Given the description of an element on the screen output the (x, y) to click on. 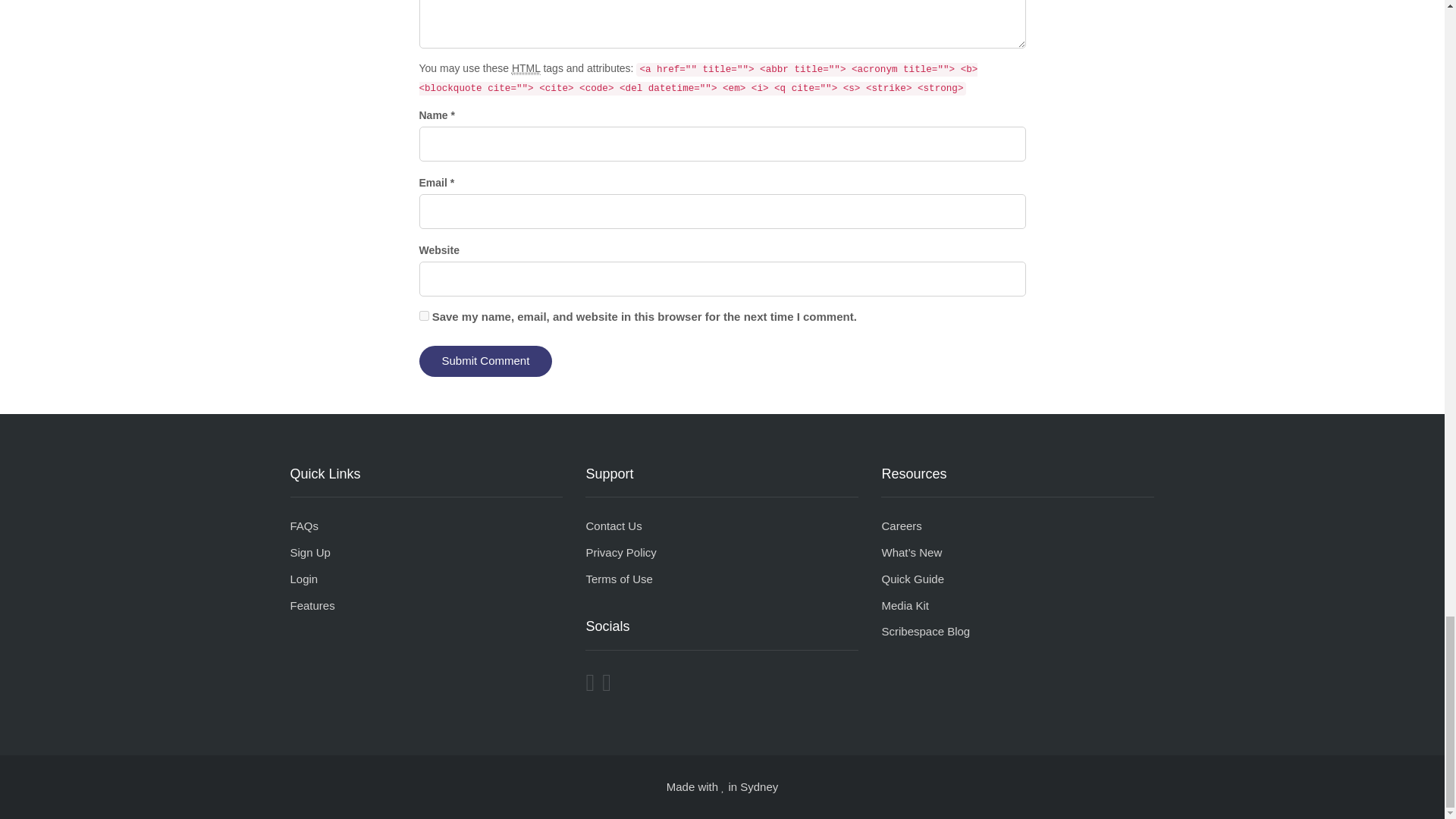
Submit Comment (485, 360)
Submit Comment (485, 360)
Login (303, 578)
Features (311, 604)
Terms of Use (618, 578)
Privacy Policy (620, 552)
Quick Guide (911, 578)
yes (423, 316)
Sign Up (309, 552)
HyperText Markup Language (526, 68)
Media Kit (904, 604)
Contact Us (613, 525)
Scribespace Blog (924, 631)
